Given the description of an element on the screen output the (x, y) to click on. 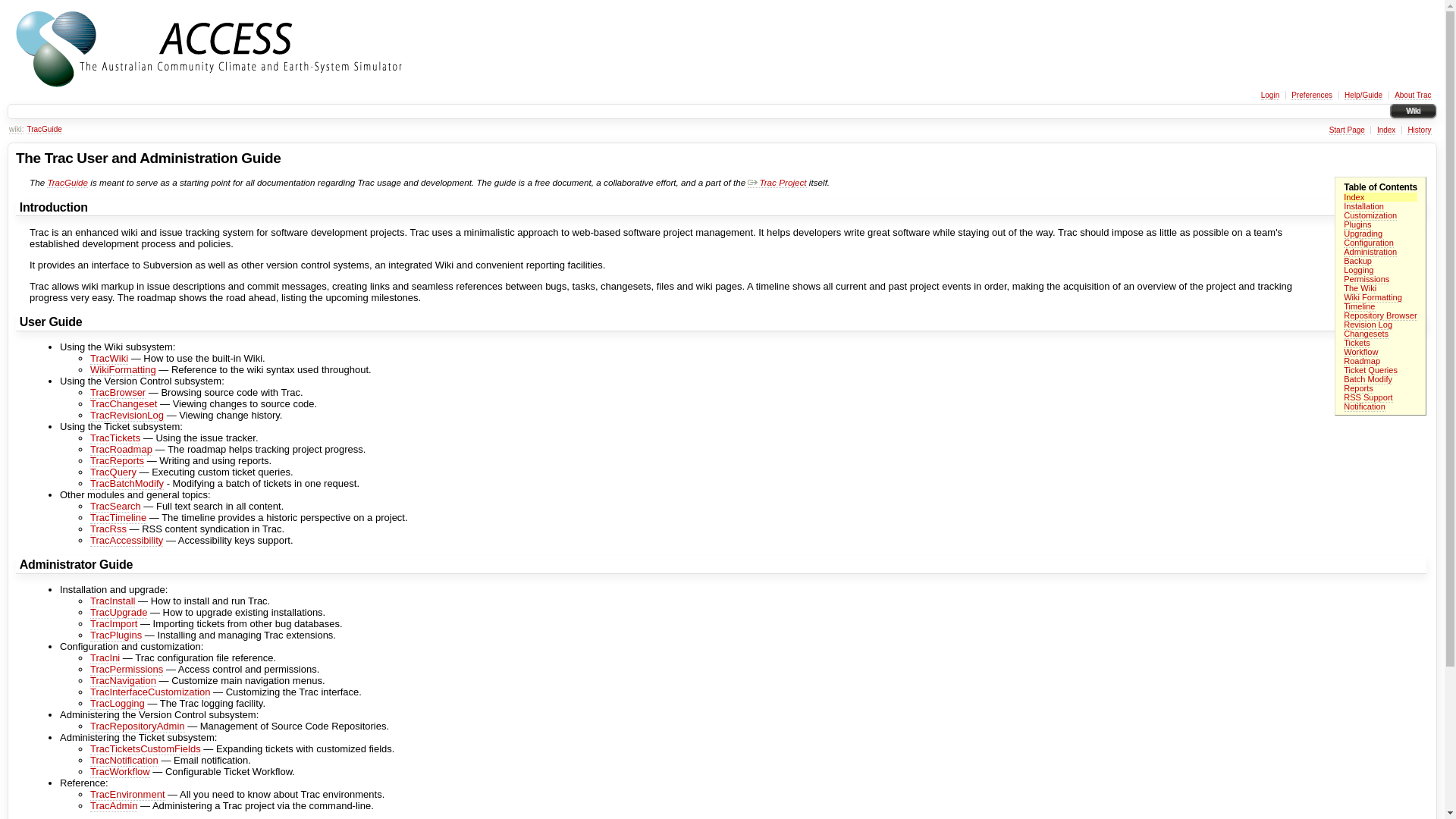
Help/Guide Element type: text (1363, 95)
Trac Project Element type: text (776, 182)
Wiki Formatting Element type: text (1372, 297)
TracAdmin Element type: text (113, 806)
TracPlugins Element type: text (115, 635)
TracReports Element type: text (117, 461)
Batch Modify Element type: text (1367, 379)
Installation Element type: text (1363, 206)
TracNavigation Element type: text (123, 680)
Index Element type: text (1353, 197)
TracTickets Element type: text (115, 438)
Repository Browser Element type: text (1379, 315)
Roadmap Element type: text (1361, 361)
Upgrading Element type: text (1362, 233)
TracTicketsCustomFields Element type: text (145, 749)
TracBatchModify Element type: text (126, 483)
Login Element type: text (1270, 95)
Preferences Element type: text (1311, 95)
Backup Element type: text (1357, 261)
Permissions Element type: text (1366, 279)
Logging Element type: text (1358, 270)
TracChangeset Element type: text (123, 404)
RSS Support Element type: text (1367, 397)
TracSearch Element type: text (115, 506)
Customization Element type: text (1369, 215)
Configuration Element type: text (1368, 242)
TracQuery Element type: text (113, 472)
TracWorkflow Element type: text (120, 771)
Wiki Element type: text (1412, 110)
Notification Element type: text (1364, 406)
History Element type: text (1418, 129)
wiki: Element type: text (16, 129)
Plugins Element type: text (1357, 224)
TracRoadmap Element type: text (121, 449)
TracGuide Element type: text (67, 182)
TracPermissions Element type: text (126, 669)
Reports Element type: text (1358, 388)
TracLogging Element type: text (117, 703)
The Wiki Element type: text (1359, 288)
Timeline Element type: text (1358, 306)
TracAccessibility Element type: text (126, 540)
TracRepositoryAdmin Element type: text (137, 726)
TracUpgrade Element type: text (118, 612)
TracIni Element type: text (104, 658)
TracWiki Element type: text (109, 358)
TracRss Element type: text (108, 529)
Workflow Element type: text (1360, 352)
Tickets Element type: text (1356, 343)
TracRevisionLog Element type: text (126, 415)
Administration Element type: text (1369, 252)
WikiFormatting Element type: text (123, 370)
Changesets Element type: text (1365, 333)
About Trac Element type: text (1412, 95)
Ticket Queries Element type: text (1370, 370)
TracBrowser Element type: text (117, 392)
Index Element type: text (1386, 129)
Start Page Element type: text (1347, 129)
TracImport Element type: text (113, 624)
TracInterfaceCustomization Element type: text (150, 692)
TracNotification Element type: text (124, 760)
TracInstall Element type: text (112, 601)
TracTimeline Element type: text (118, 517)
TracGuide Element type: text (43, 129)
Revision Log Element type: text (1367, 324)
TracEnvironment Element type: text (127, 794)
